Given the description of an element on the screen output the (x, y) to click on. 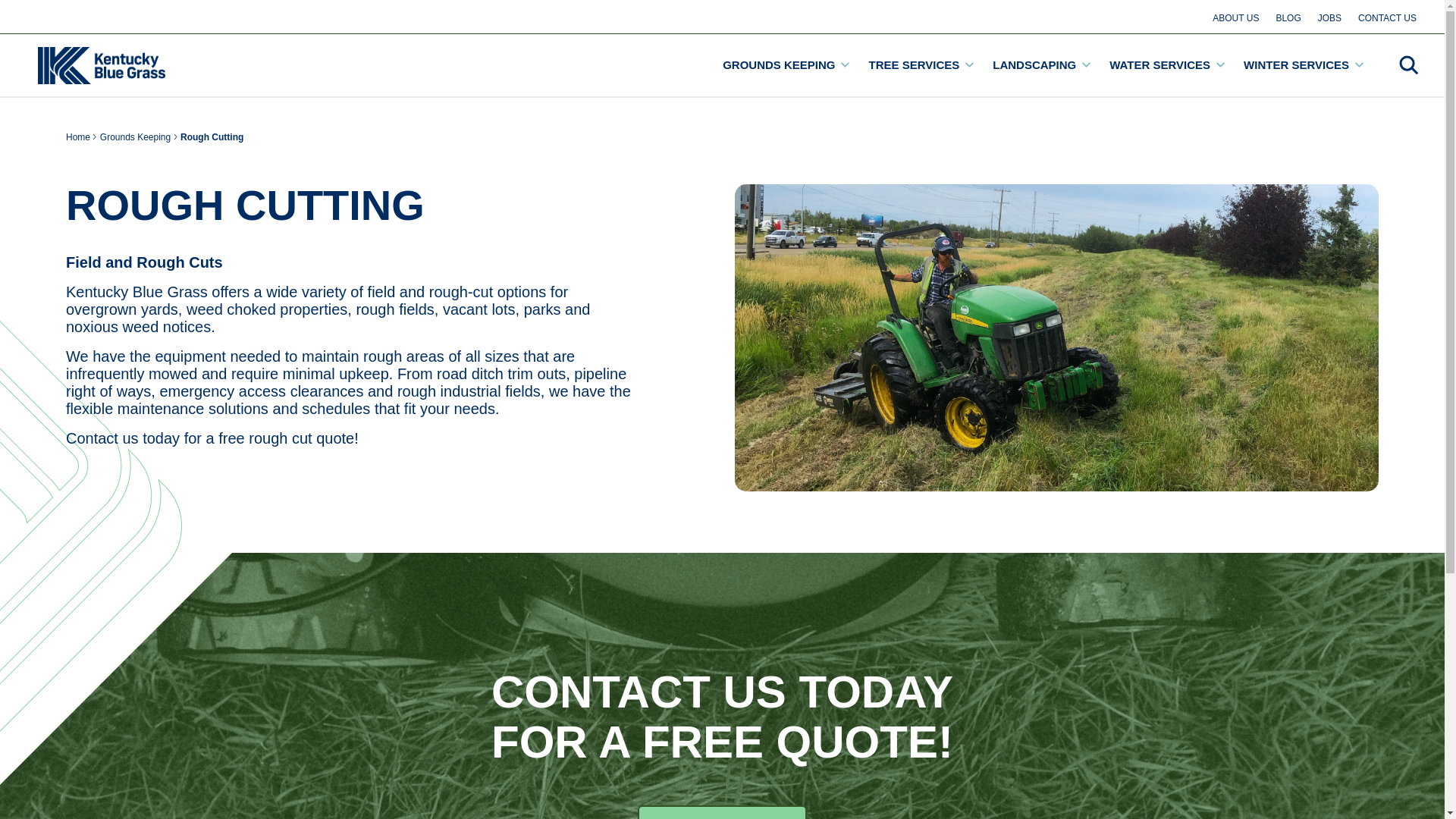
WINTER SERVICES (1302, 65)
LANDSCAPING (1041, 65)
CONTACT US (1387, 18)
JOBS (1328, 18)
GROUNDS KEEPING (785, 65)
BLOG (1287, 18)
ABOUT US (1235, 18)
TREE SERVICES (920, 65)
WATER SERVICES (1166, 65)
